Given the description of an element on the screen output the (x, y) to click on. 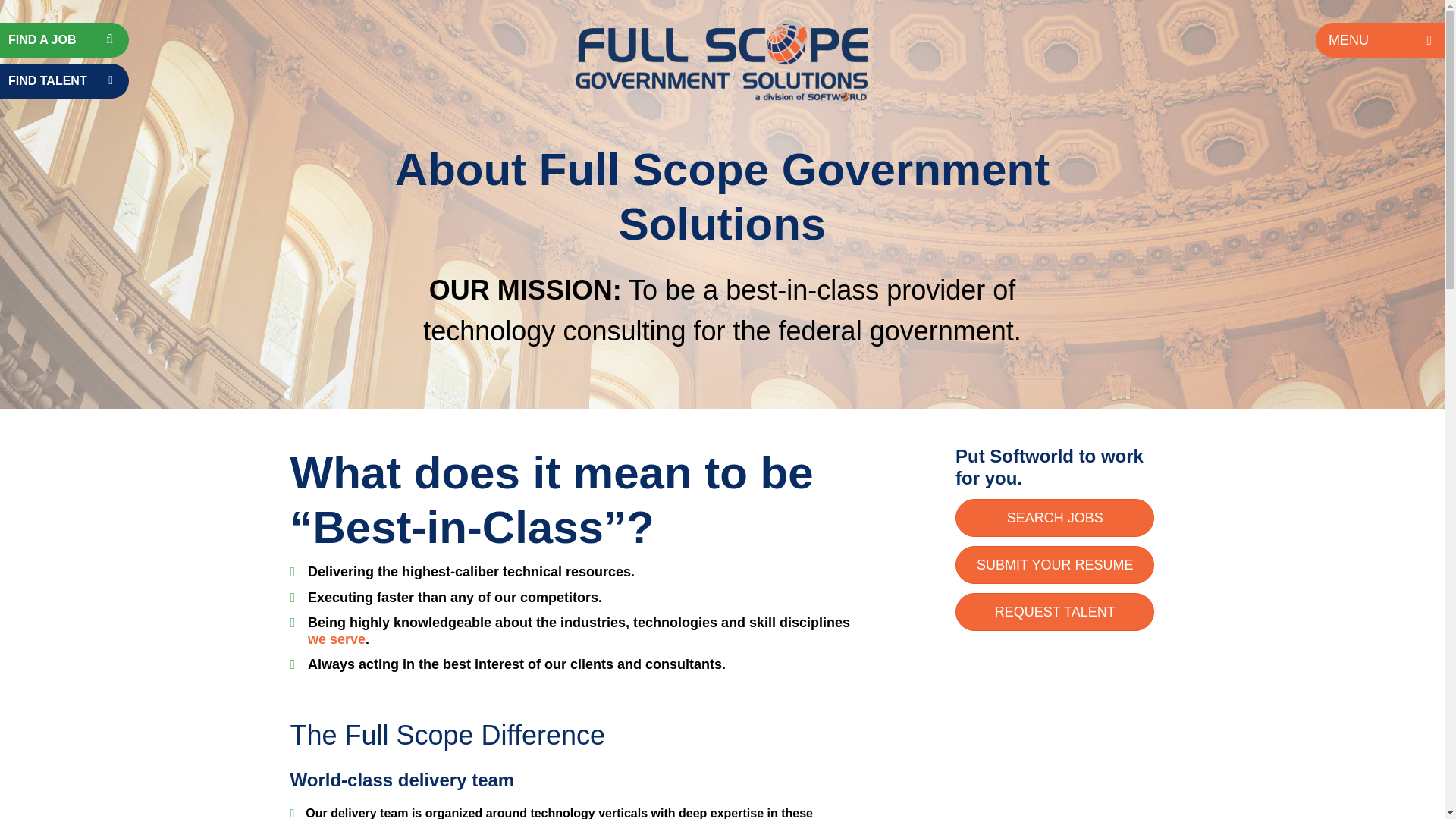
SEARCH JOBS (1054, 517)
FIND TALENT (64, 80)
we serve (336, 639)
SUBMIT YOUR RESUME (1054, 564)
REQUEST TALENT (1054, 611)
FIND A JOB (64, 39)
